Given the description of an element on the screen output the (x, y) to click on. 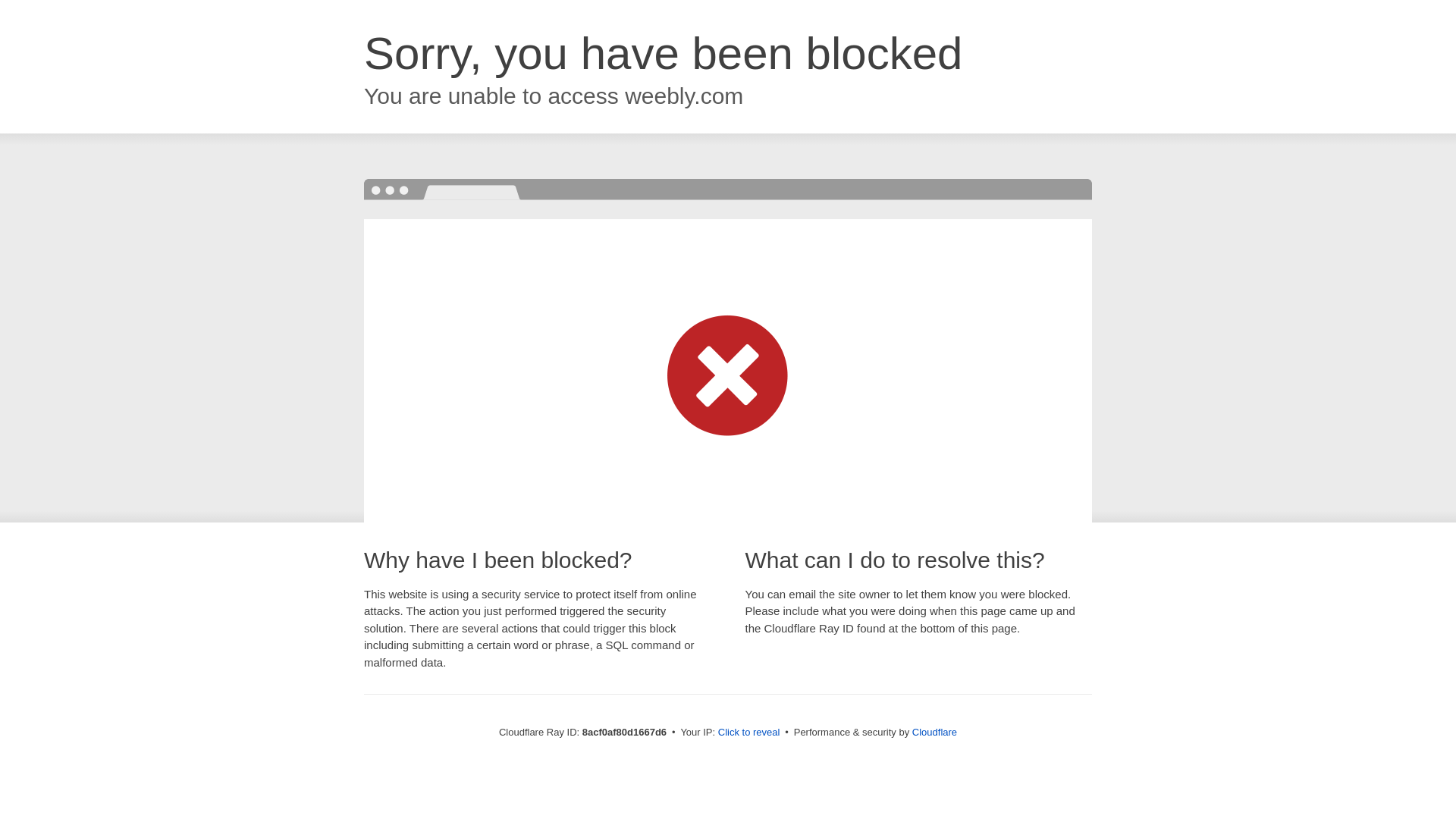
Cloudflare (934, 731)
Click to reveal (748, 732)
